Given the description of an element on the screen output the (x, y) to click on. 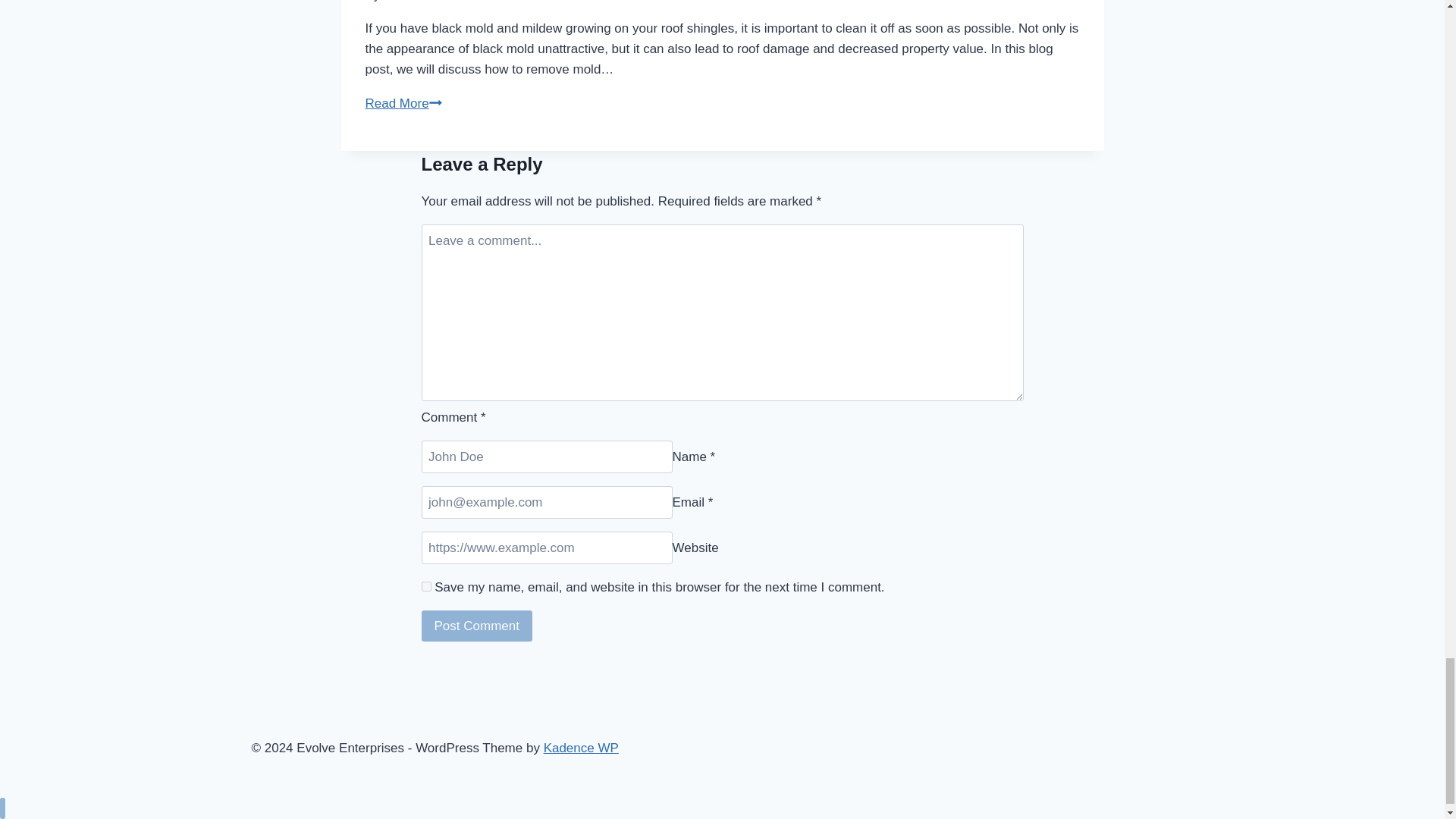
Post Comment (477, 625)
Post Comment (477, 625)
yes (426, 586)
Kadence WP (580, 748)
